Given the description of an element on the screen output the (x, y) to click on. 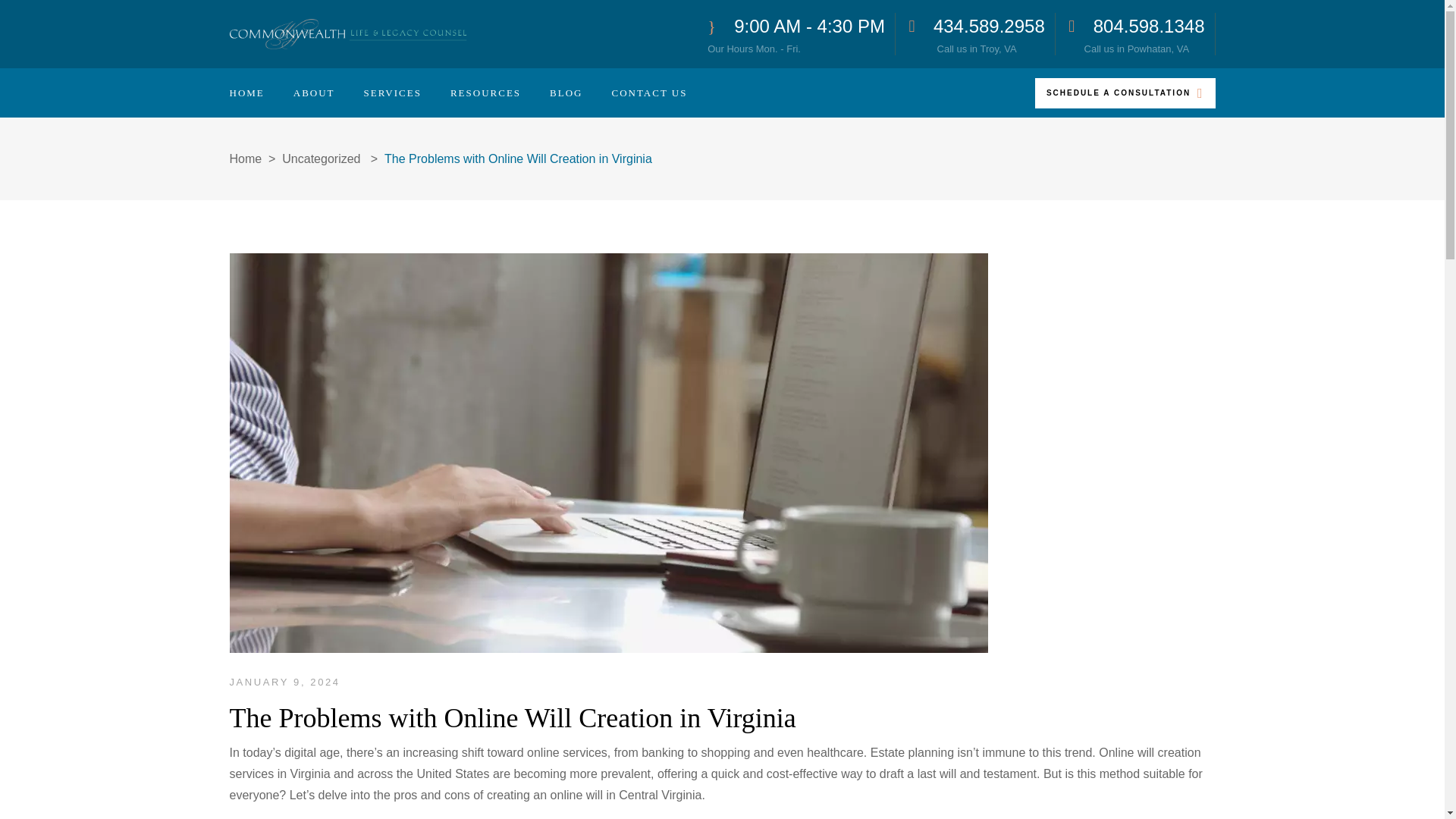
HOME (1136, 34)
ABOUT (796, 34)
SERVICES (976, 34)
